Given the description of an element on the screen output the (x, y) to click on. 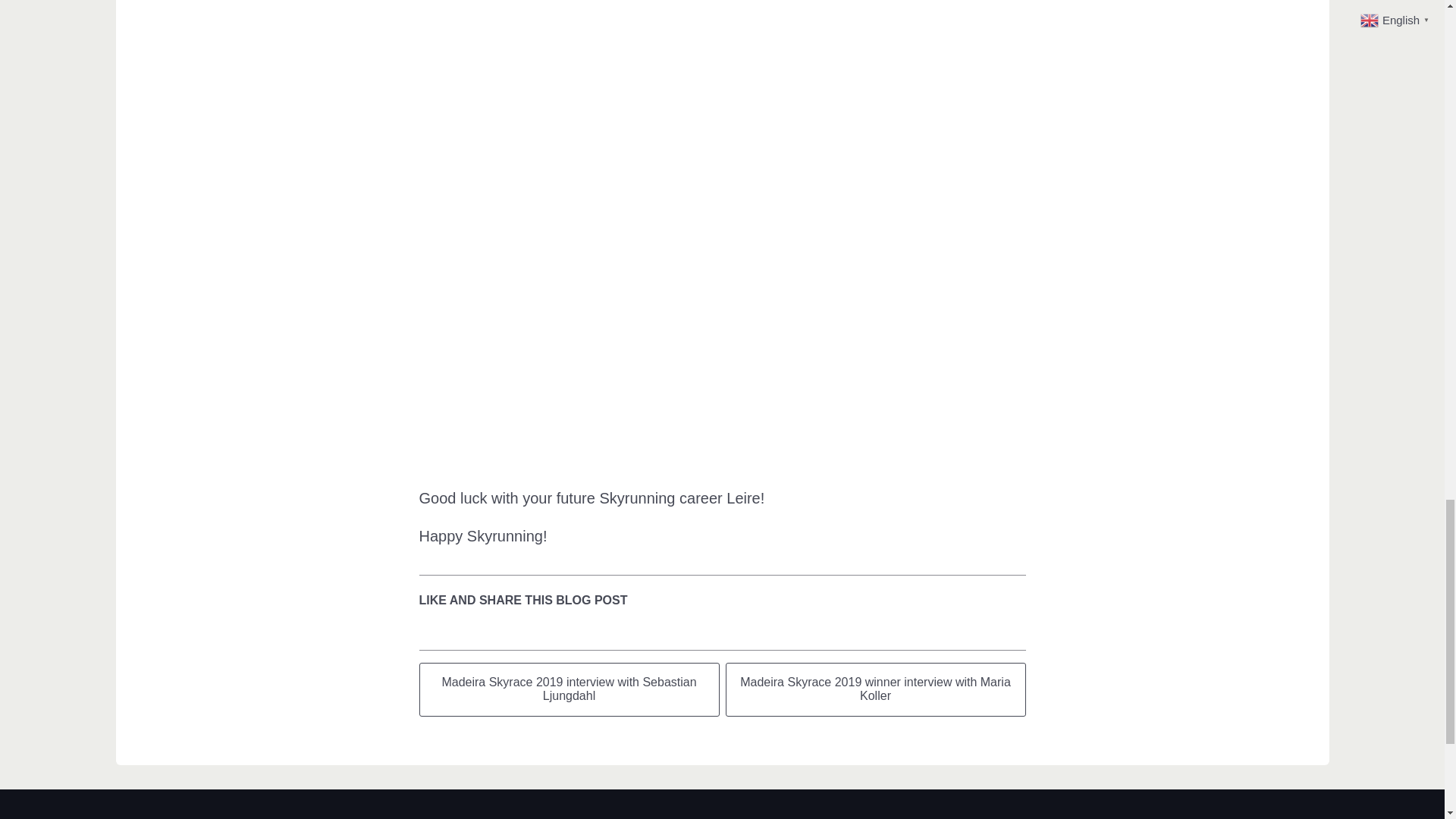
Madeira Skyrace 2019 interview with Sebastian Ljungdahl (569, 689)
Madeira Skyrace 2019 winner interview with Maria Koller (875, 689)
